Given the description of an element on the screen output the (x, y) to click on. 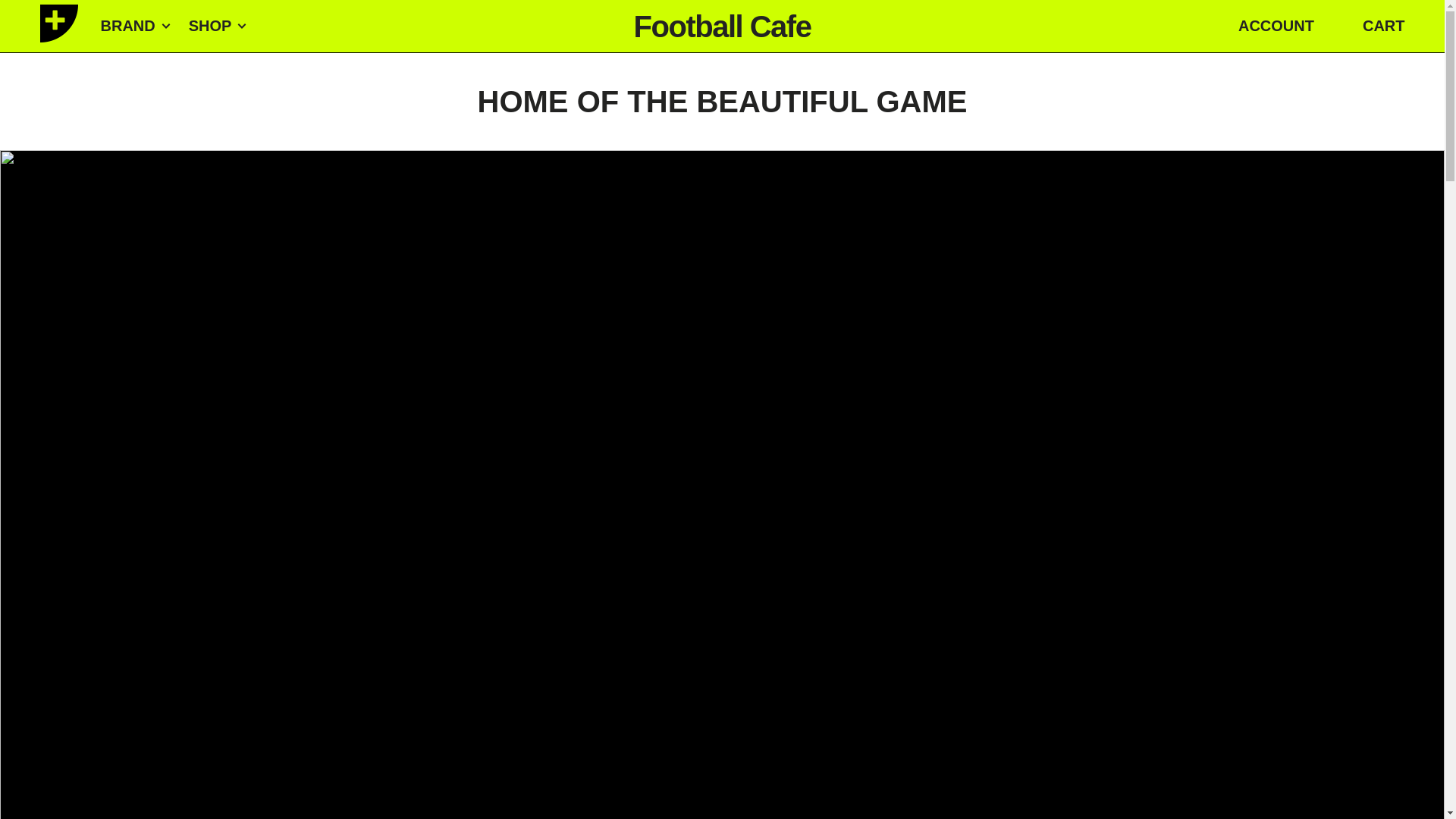
SHOP (217, 25)
BRAND (134, 25)
SKIP TO CONTENT (21, 22)
Football Cafe (722, 25)
